Given the description of an element on the screen output the (x, y) to click on. 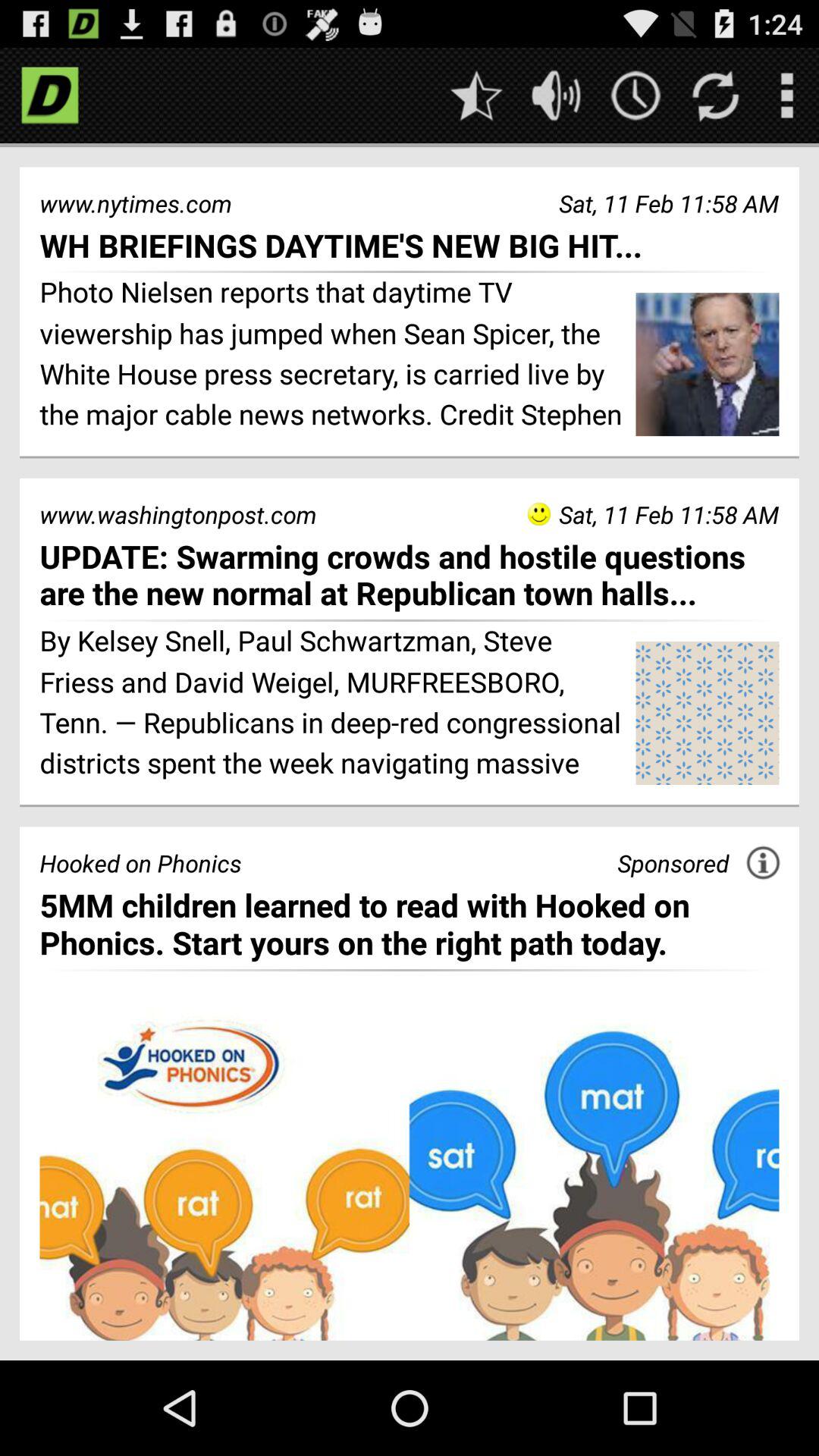
get the time (635, 95)
